Given the description of an element on the screen output the (x, y) to click on. 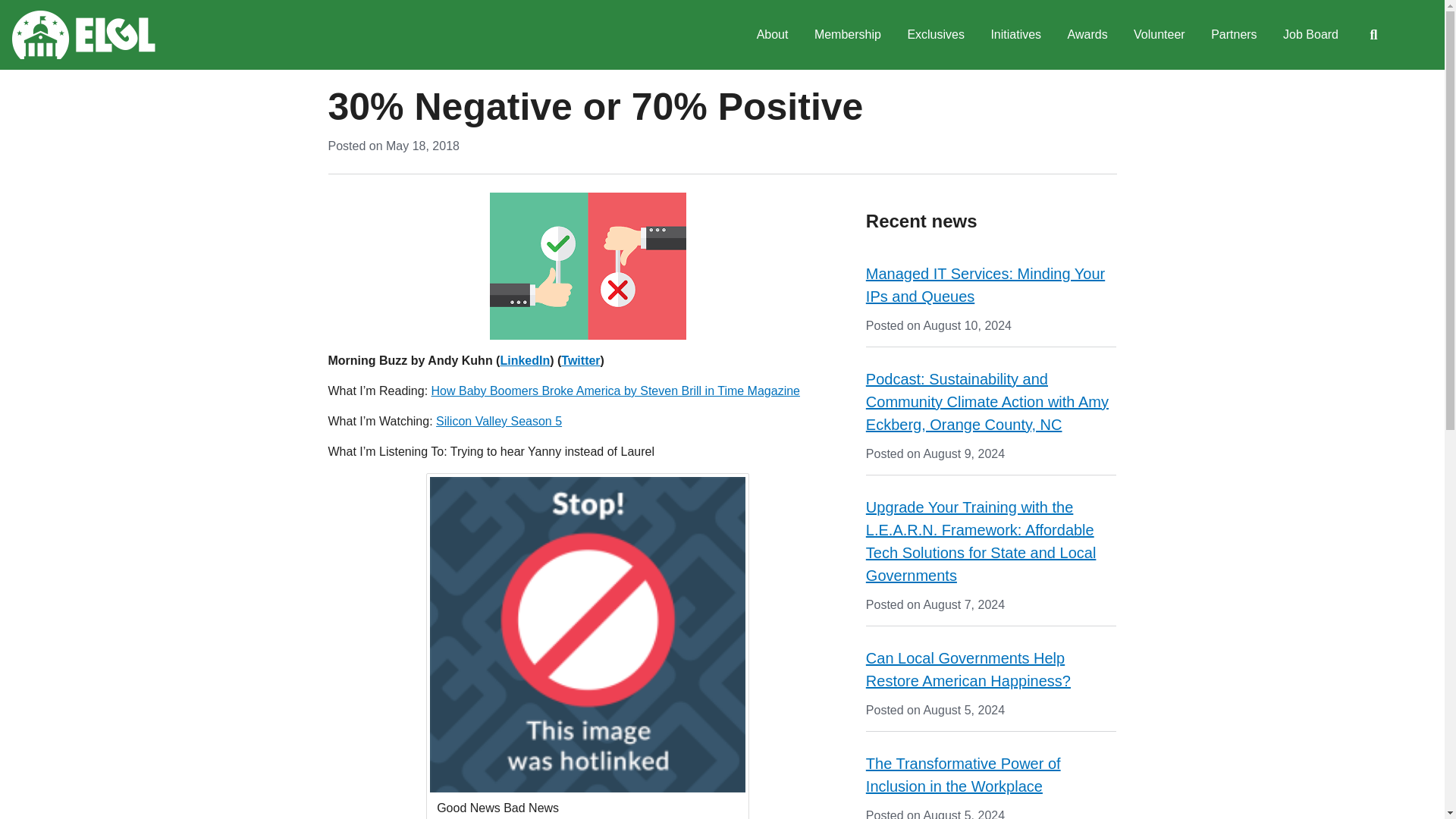
Volunteer (1159, 34)
Partners (1233, 34)
Search (1372, 35)
Silicon Valley Season 5 (498, 420)
About (772, 34)
LinkedIn (524, 359)
Home (83, 34)
